Given the description of an element on the screen output the (x, y) to click on. 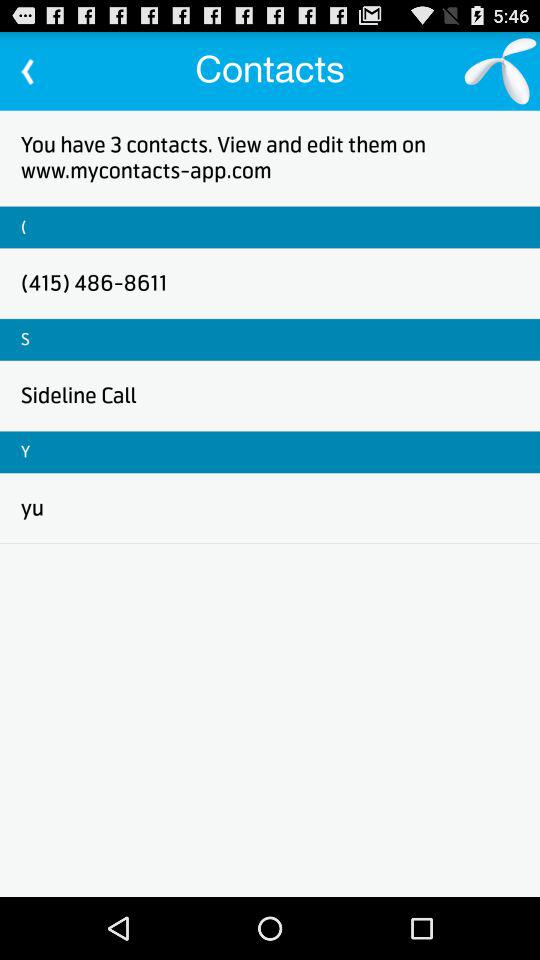
turn on s icon (25, 339)
